Given the description of an element on the screen output the (x, y) to click on. 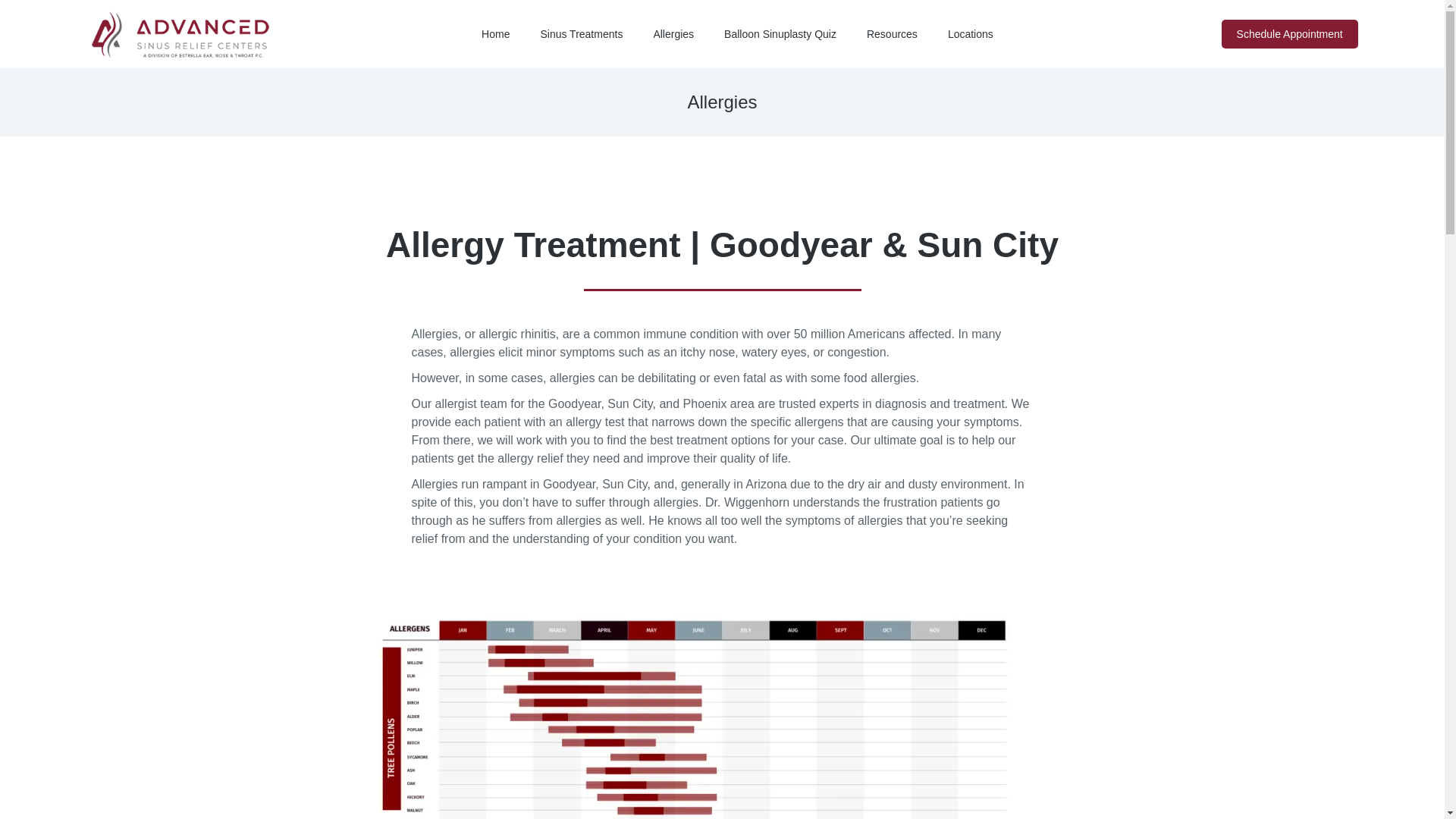
Schedule Appointment (1289, 33)
Balloon Sinuplasty Quiz (780, 33)
Sinus Treatments (581, 33)
